Given the description of an element on the screen output the (x, y) to click on. 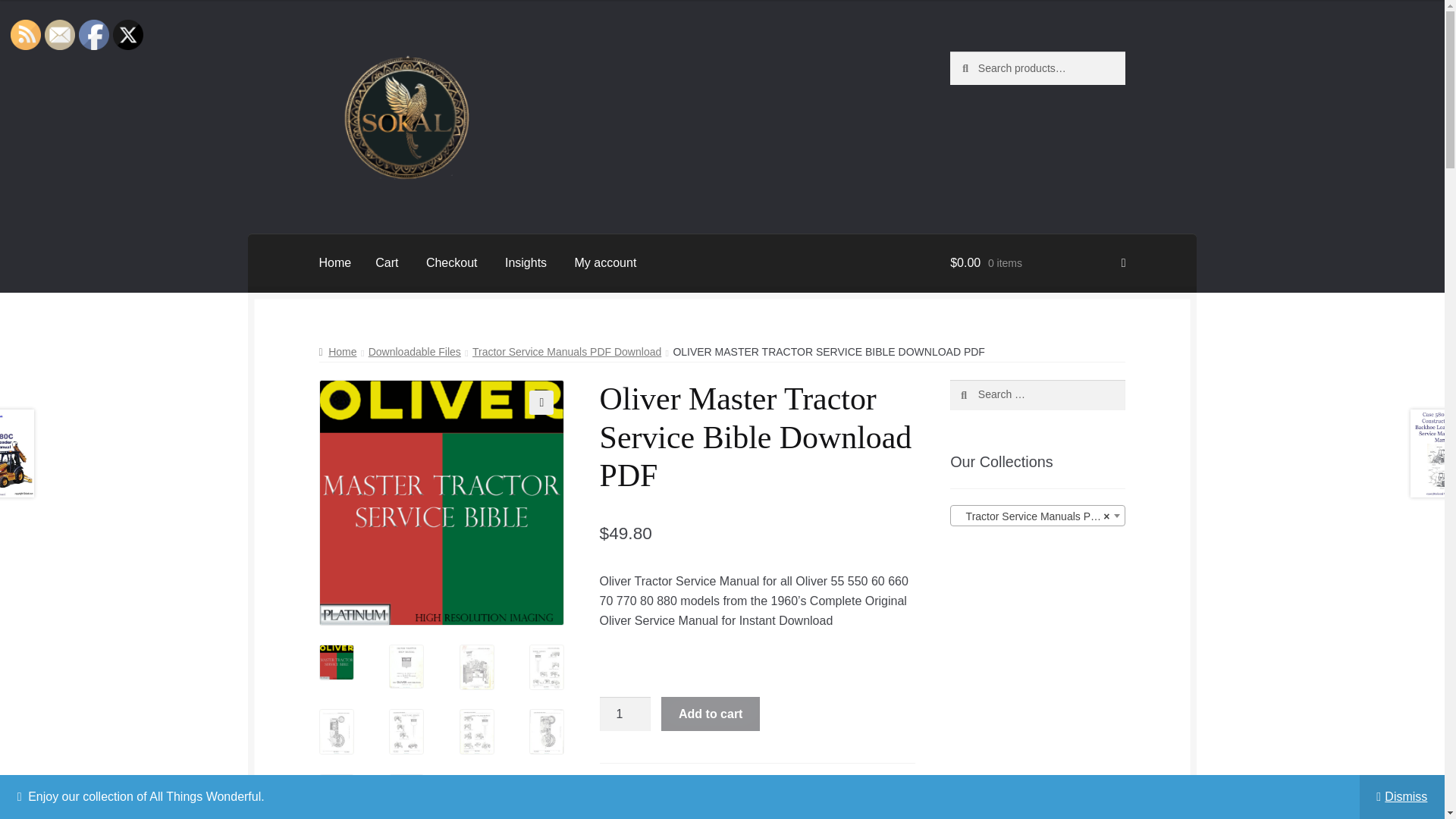
1 (624, 714)
Downloadable Files (705, 782)
Service Manuals PDF Download (679, 799)
PDF Downloadable Media (826, 782)
Add to cart (710, 714)
Tractor Service Manuals PDF Download (755, 806)
RSS (25, 34)
Insights (526, 262)
Downloadable Files (414, 351)
My account (605, 262)
Home (335, 262)
